Given the description of an element on the screen output the (x, y) to click on. 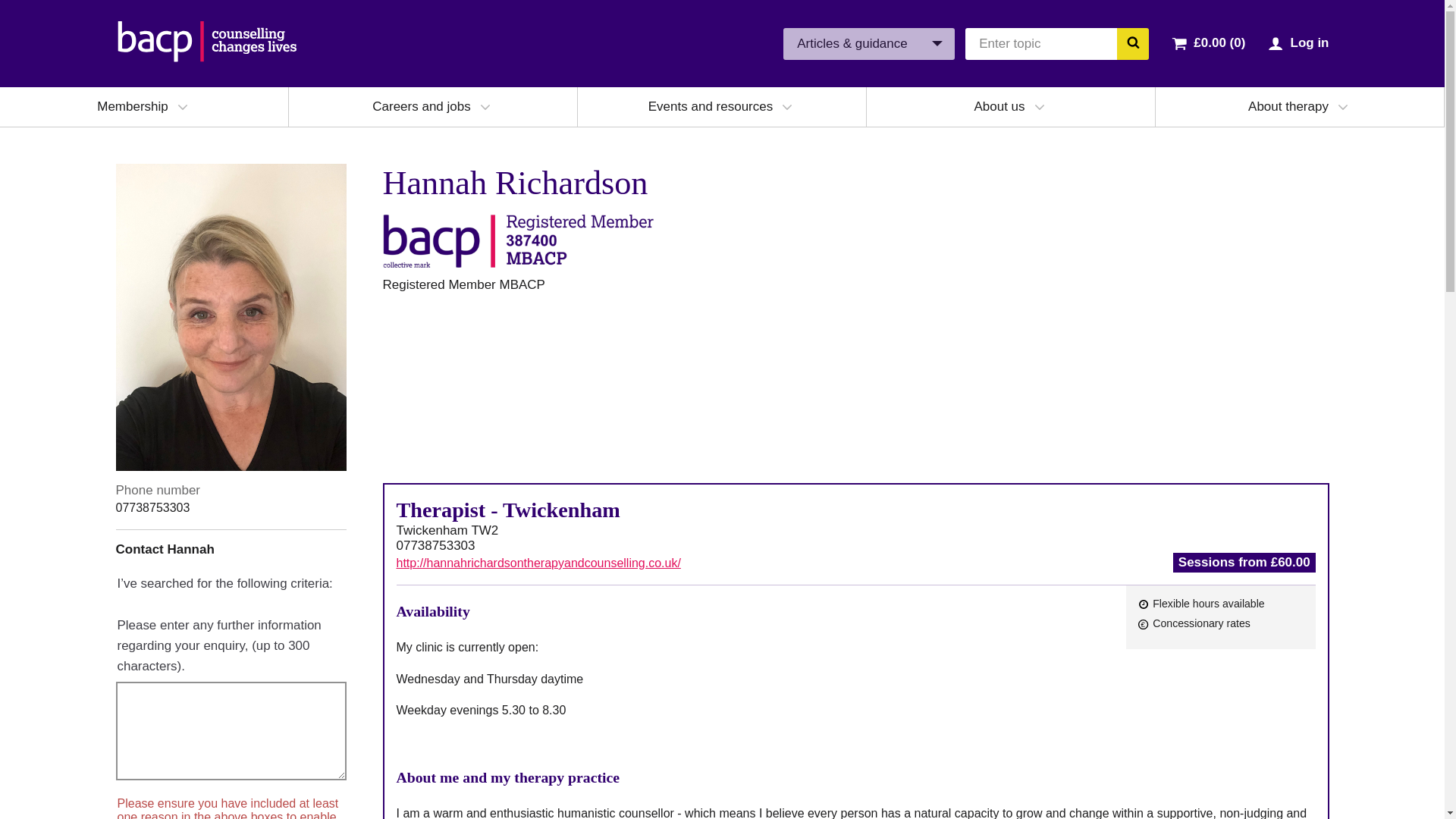
Membership (132, 106)
Search the BACP website (1132, 42)
Careers and jobs (421, 106)
Events and resources (710, 106)
Log in (1309, 42)
